Given the description of an element on the screen output the (x, y) to click on. 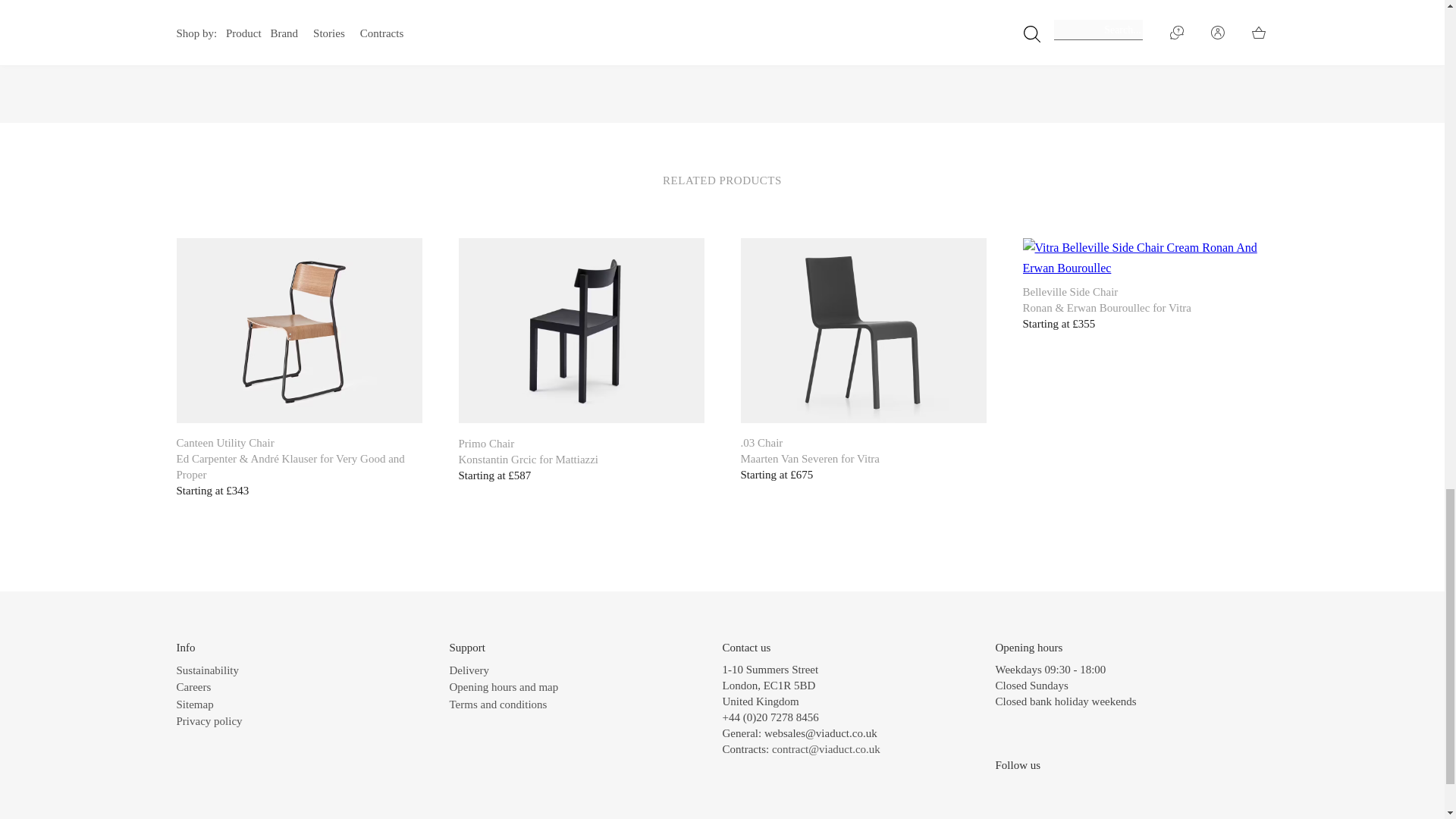
Vitra Belleville Side Chair Cream Ronan And Erwan Bouroullec (1145, 258)
Very Good And Proper Canteen Utility Chair Klauser Carpenter (299, 330)
Vitra 03 chair black van severen ct 1 (862, 330)
Mattiazzi Primo Chair Black Konstantin Grcic (580, 330)
